Given the description of an element on the screen output the (x, y) to click on. 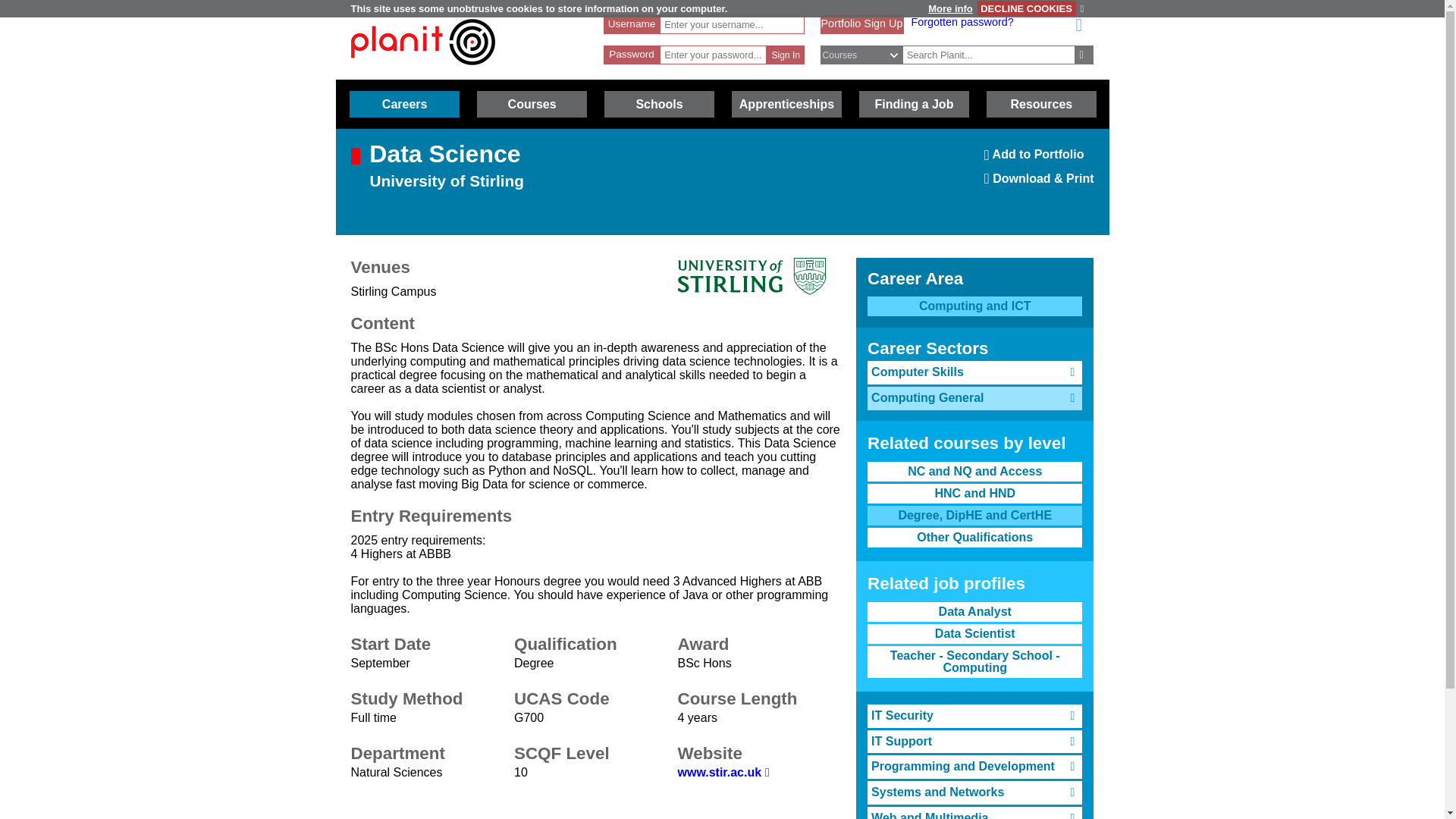
Courses (531, 103)
Sign In (1039, 159)
Computing and ICT (786, 54)
Forgotten password? (974, 306)
Portfolio Sign Up (962, 21)
Sign In (861, 23)
NC and NQ and Access (786, 54)
Planit (974, 471)
Portfolio Sign Up (422, 41)
